Given the description of an element on the screen output the (x, y) to click on. 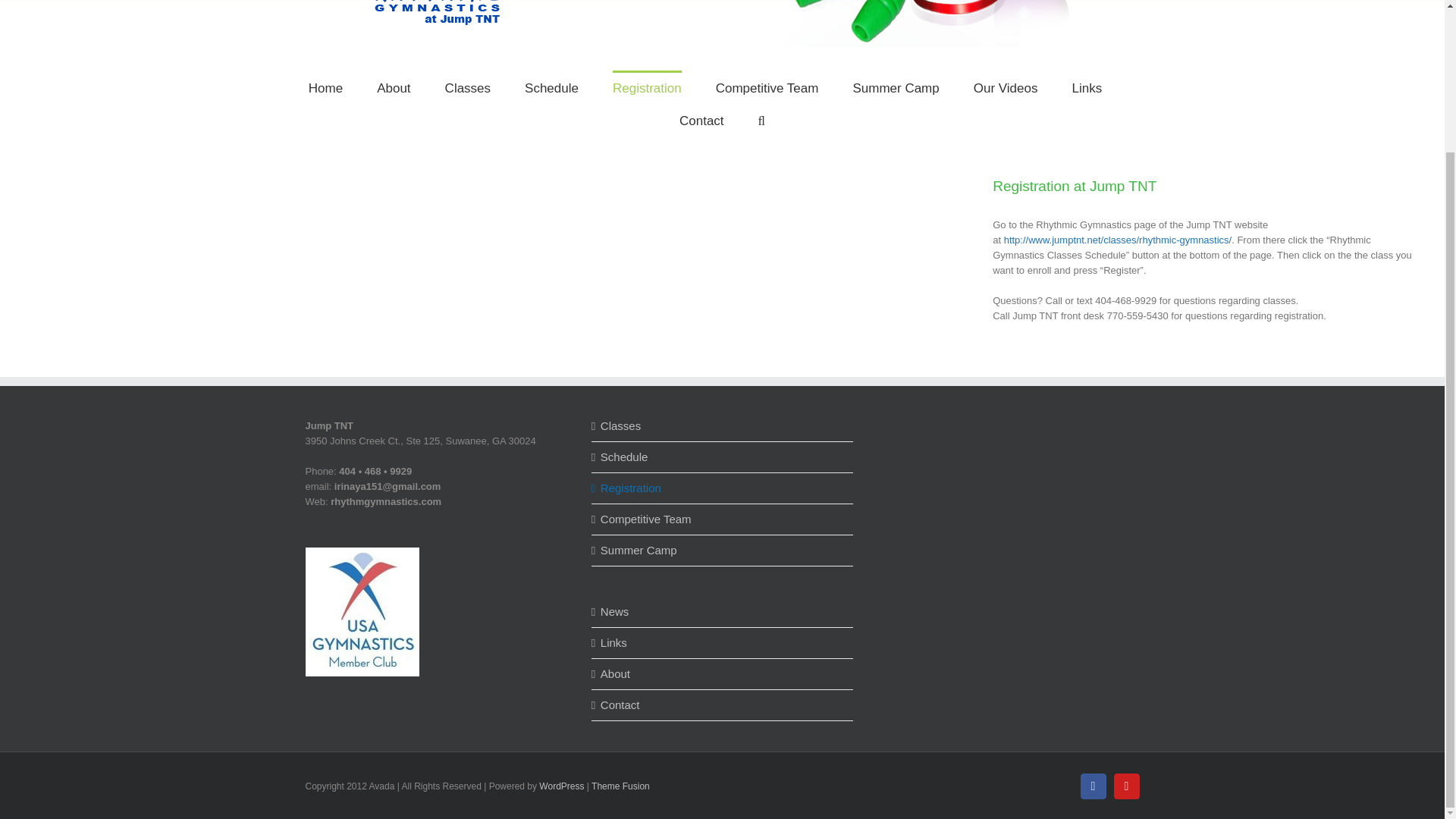
Links (722, 642)
Competitive Team (767, 86)
News (722, 611)
Contact (722, 704)
Schedule (722, 457)
Summer Camp (722, 549)
Classes (467, 86)
Links (1086, 86)
Registration (722, 488)
About (722, 673)
Contact (701, 119)
Schedule (551, 86)
Home (325, 86)
Registration (646, 86)
About (393, 86)
